Given the description of an element on the screen output the (x, y) to click on. 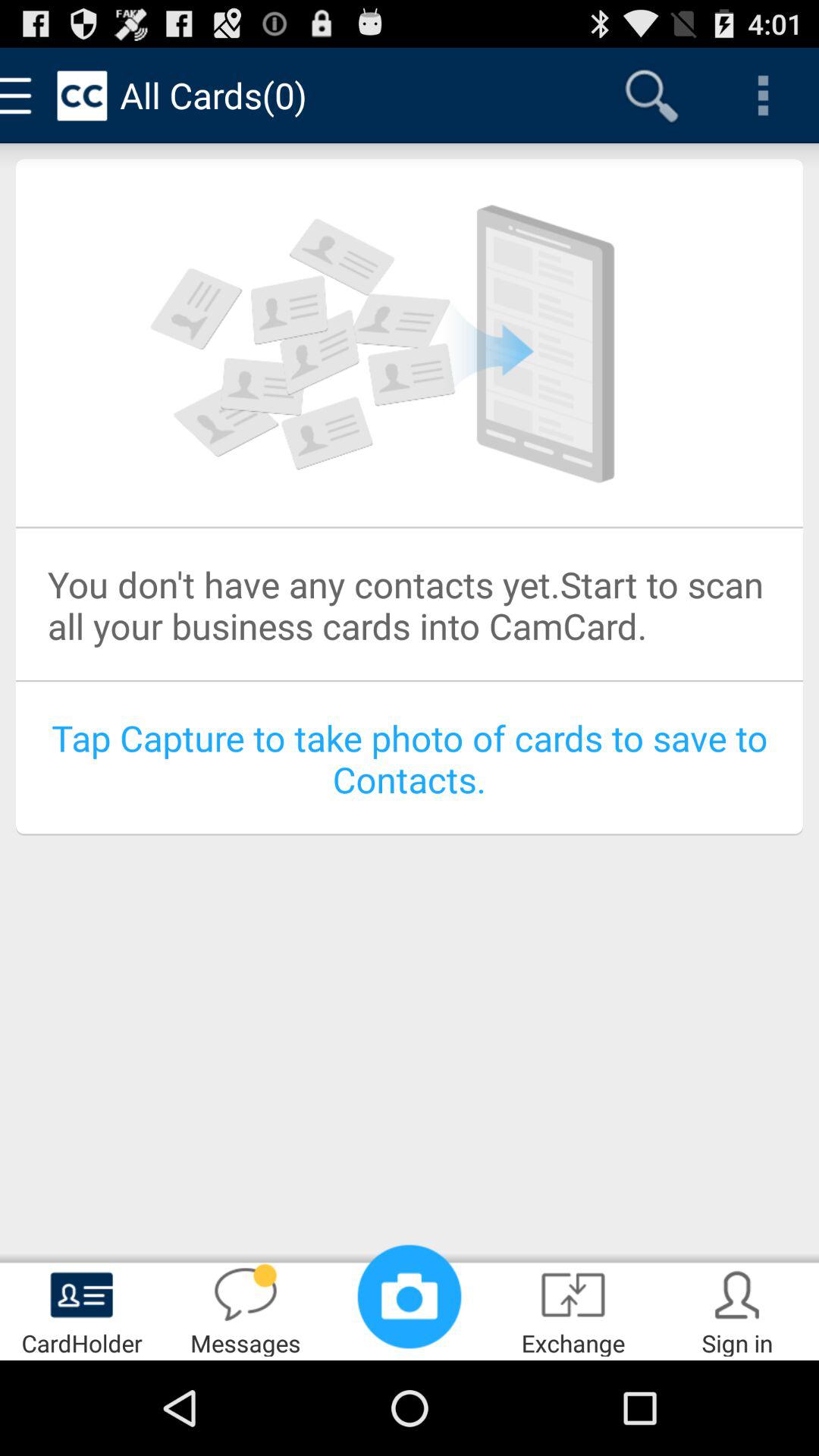
flip until the sign in app (737, 1309)
